Given the description of an element on the screen output the (x, y) to click on. 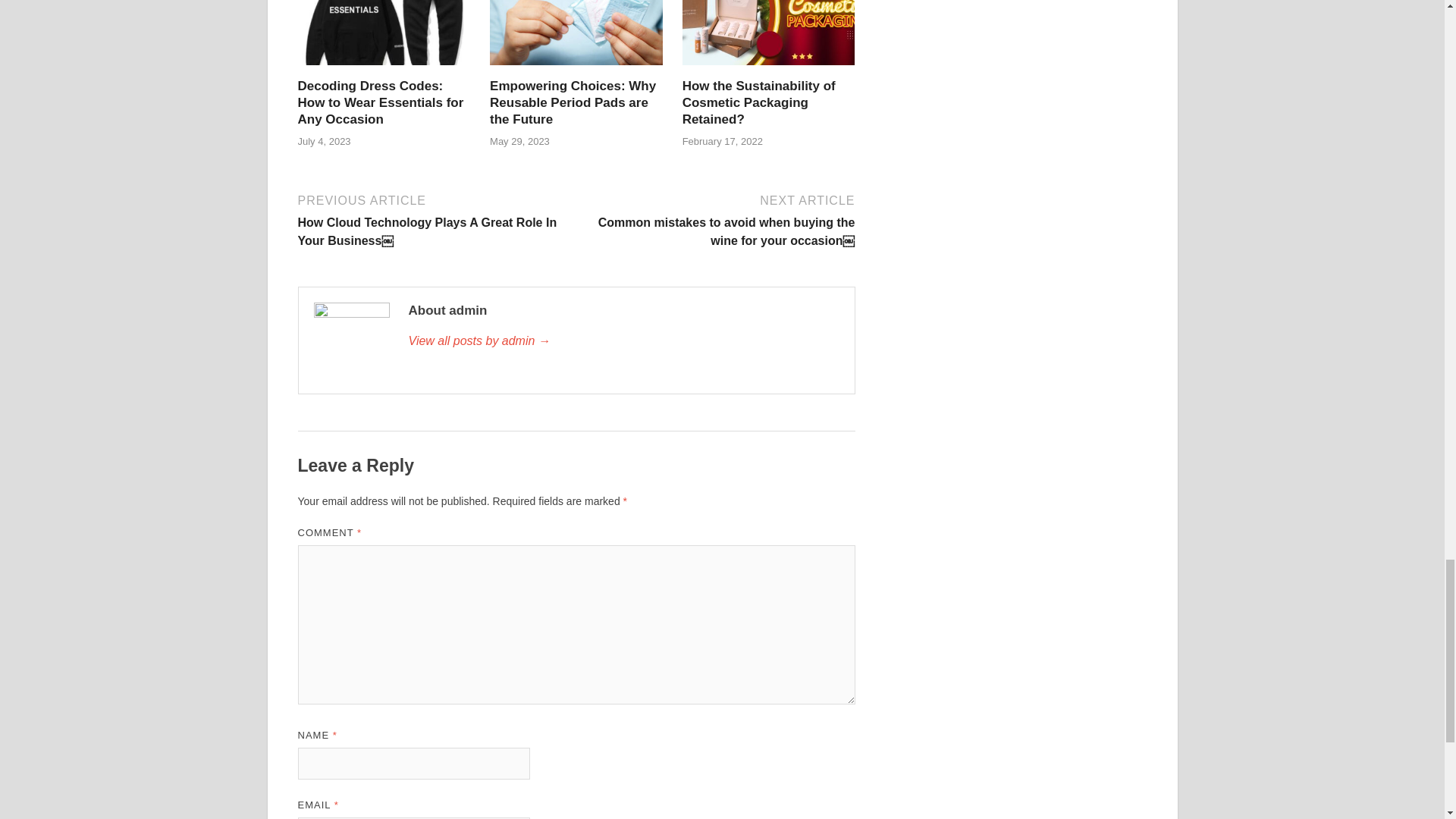
Empowering Choices: Why Reusable Period Pads are the Future (575, 16)
admin (622, 341)
How the Sustainability of Cosmetic Packaging Retained? (769, 16)
How the Sustainability of Cosmetic Packaging Retained? (758, 102)
Empowering Choices: Why Reusable Period Pads are the Future (572, 102)
